Given the description of an element on the screen output the (x, y) to click on. 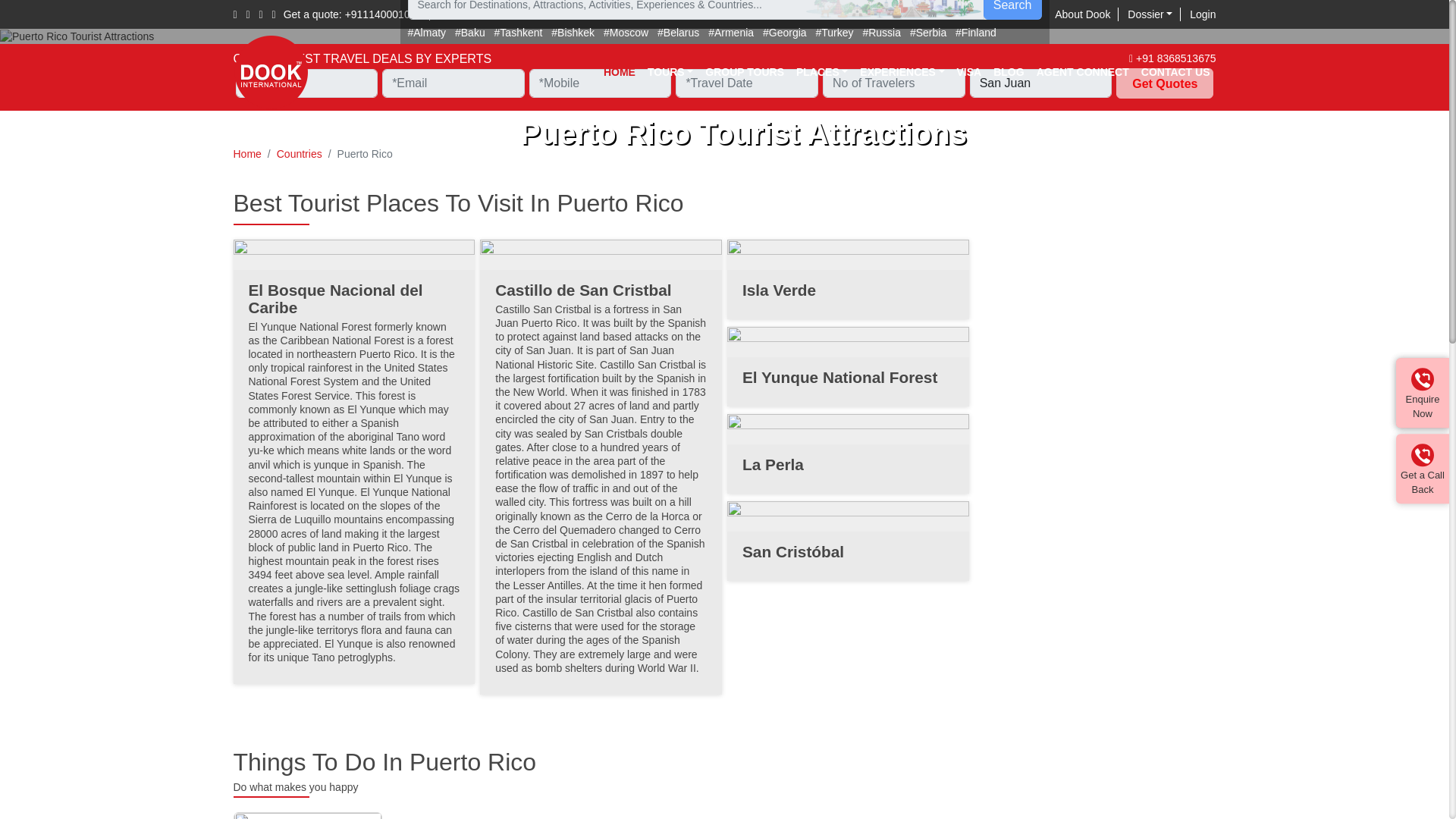
Dossier (1152, 14)
GROUP TOURS (744, 71)
HOME (619, 71)
TOURS (670, 71)
About Dook (1086, 14)
PLACES (821, 71)
Login (1202, 14)
